Given the description of an element on the screen output the (x, y) to click on. 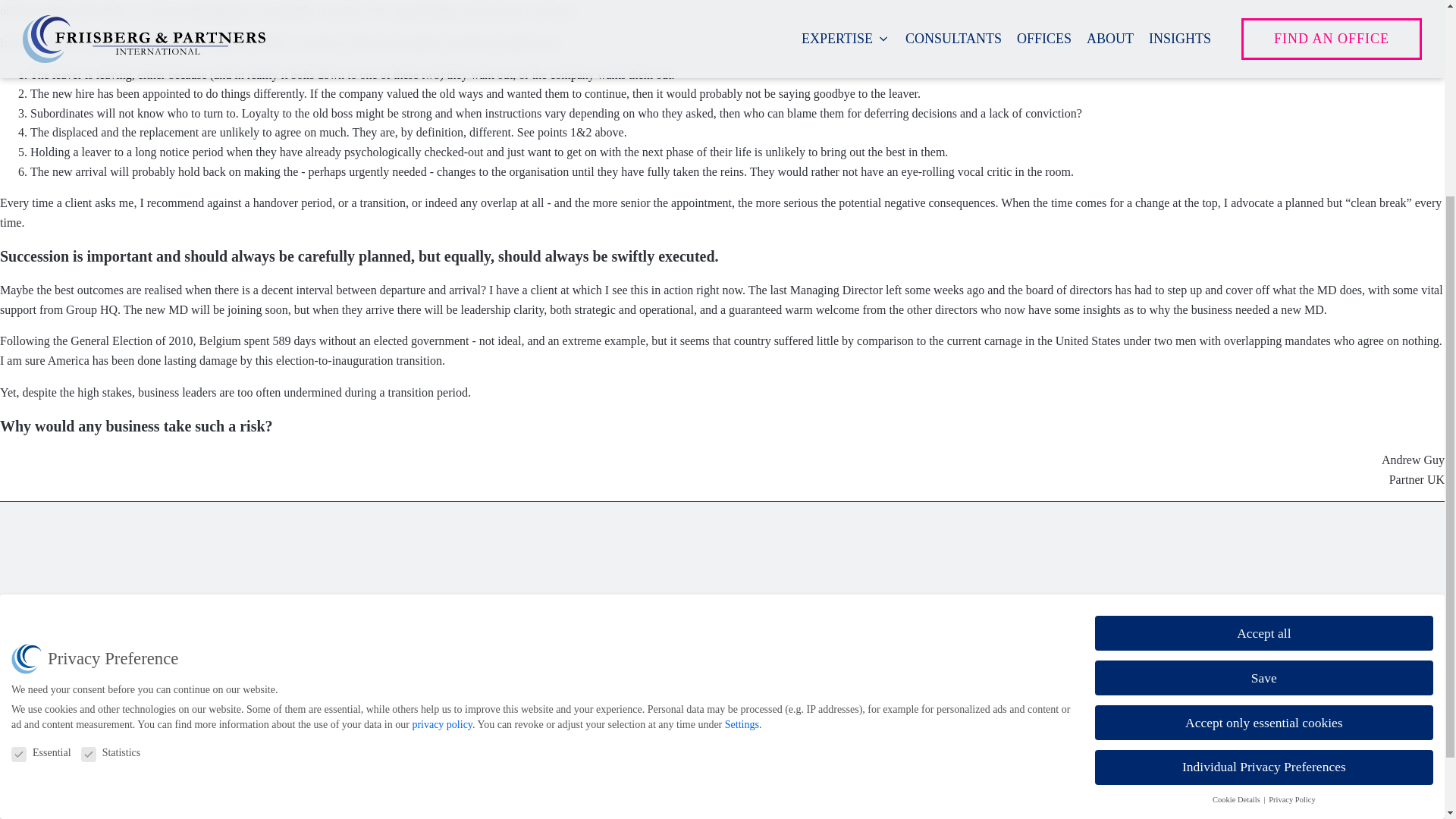
Save (1263, 406)
Privacy Policy (348, 741)
Settings (741, 452)
Terms (327, 768)
privacy policy (441, 452)
Cookie Details (1237, 528)
About (639, 748)
Executive Search (667, 639)
Privacy Policy (1292, 528)
Management Consulting (684, 667)
Join Us (642, 774)
Accept only essential cookies (1263, 451)
Individual Privacy Preferences (1263, 495)
Consultants (653, 693)
Accept all (1263, 361)
